Given the description of an element on the screen output the (x, y) to click on. 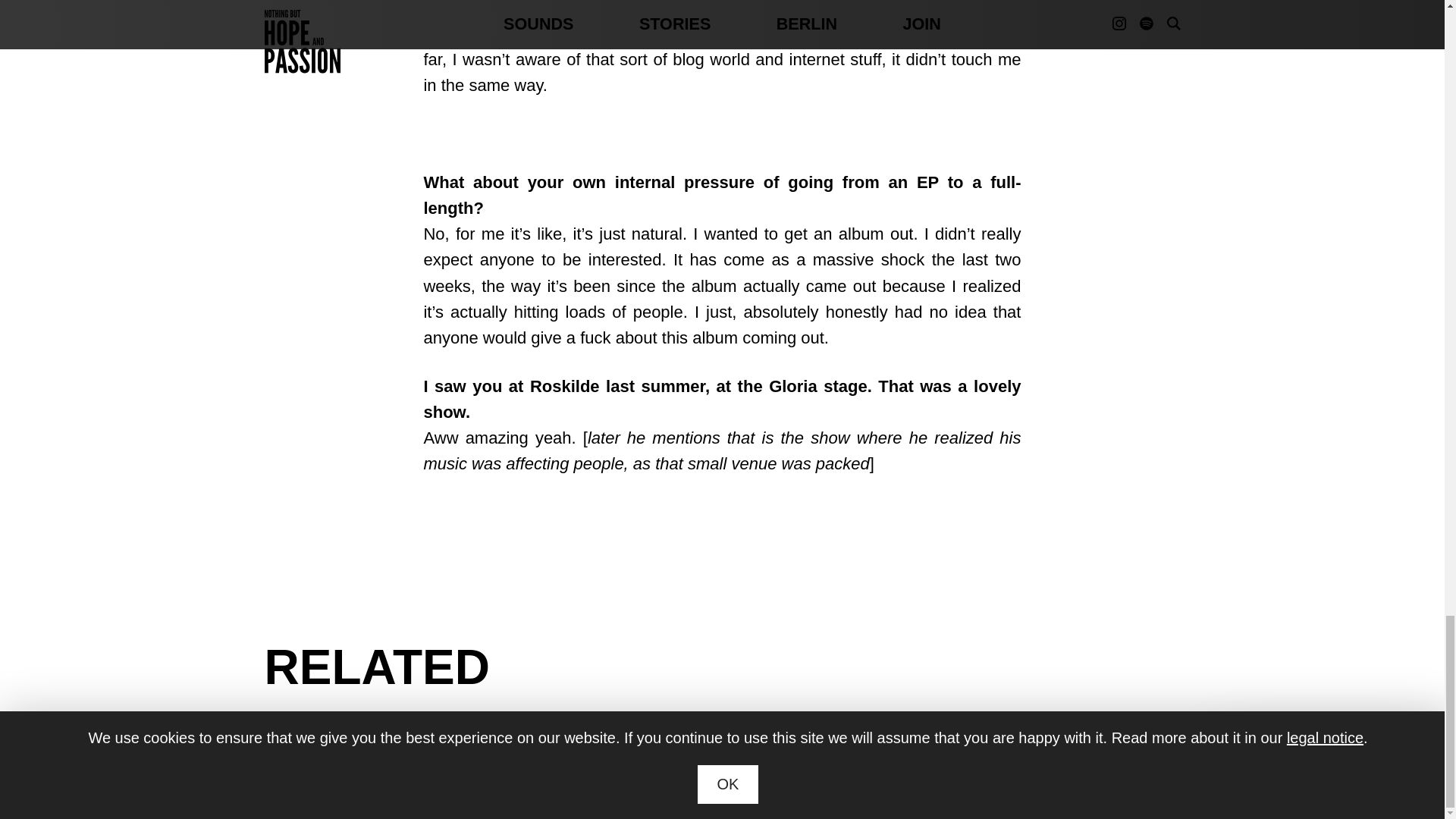
Legal Notice (803, 788)
About (738, 788)
Privacy Policy (889, 788)
Mediakit (684, 788)
